Given the description of an element on the screen output the (x, y) to click on. 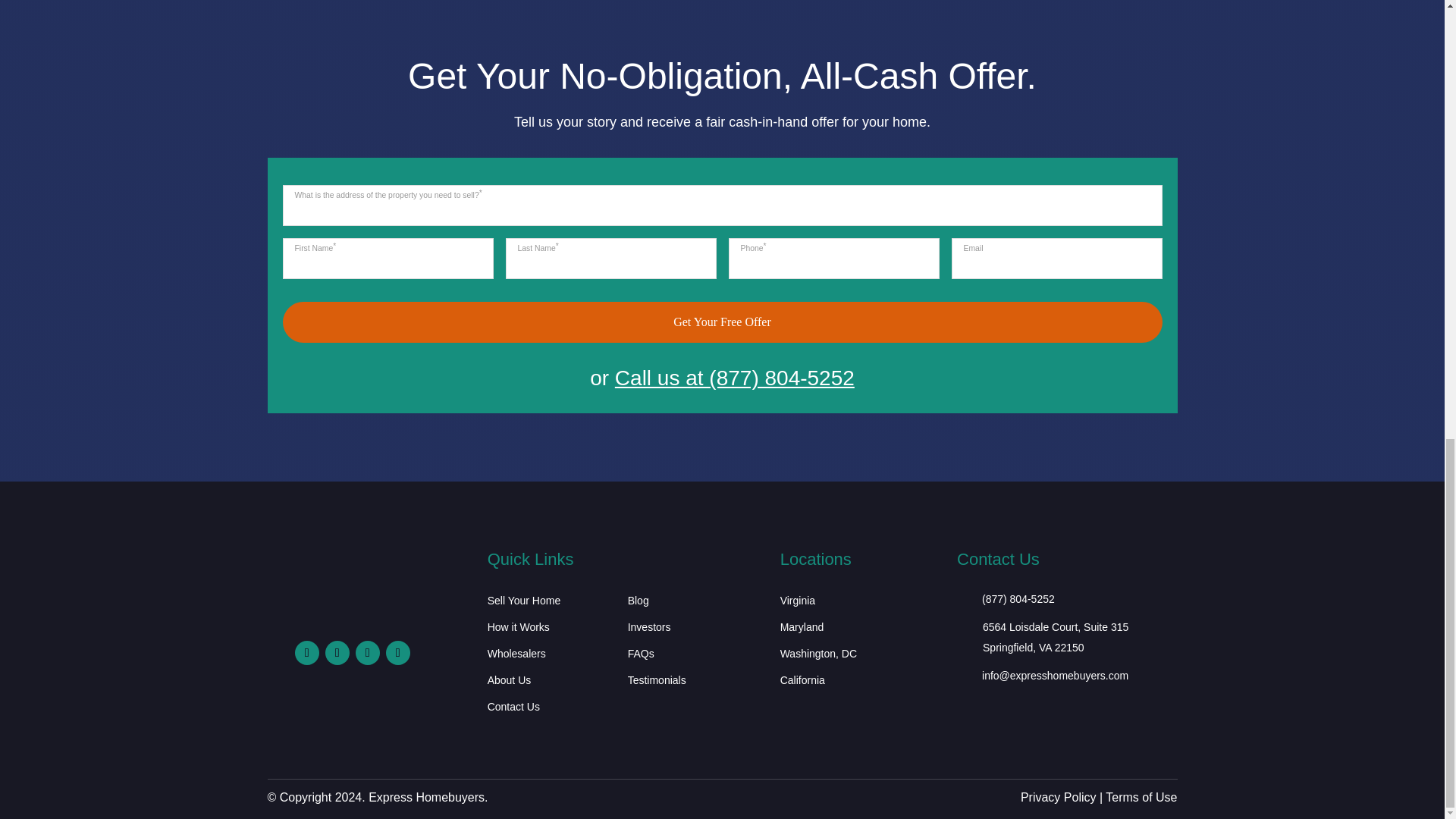
Wholesalers (516, 656)
Blog (638, 603)
FAQs (640, 656)
Investors (649, 629)
Follow on Facebook (306, 652)
Sell Your Home (523, 603)
buy my house for cash (348, 607)
How it Works (518, 629)
Get Your Free Offer (721, 322)
Follow on Instagram (336, 652)
